Given the description of an element on the screen output the (x, y) to click on. 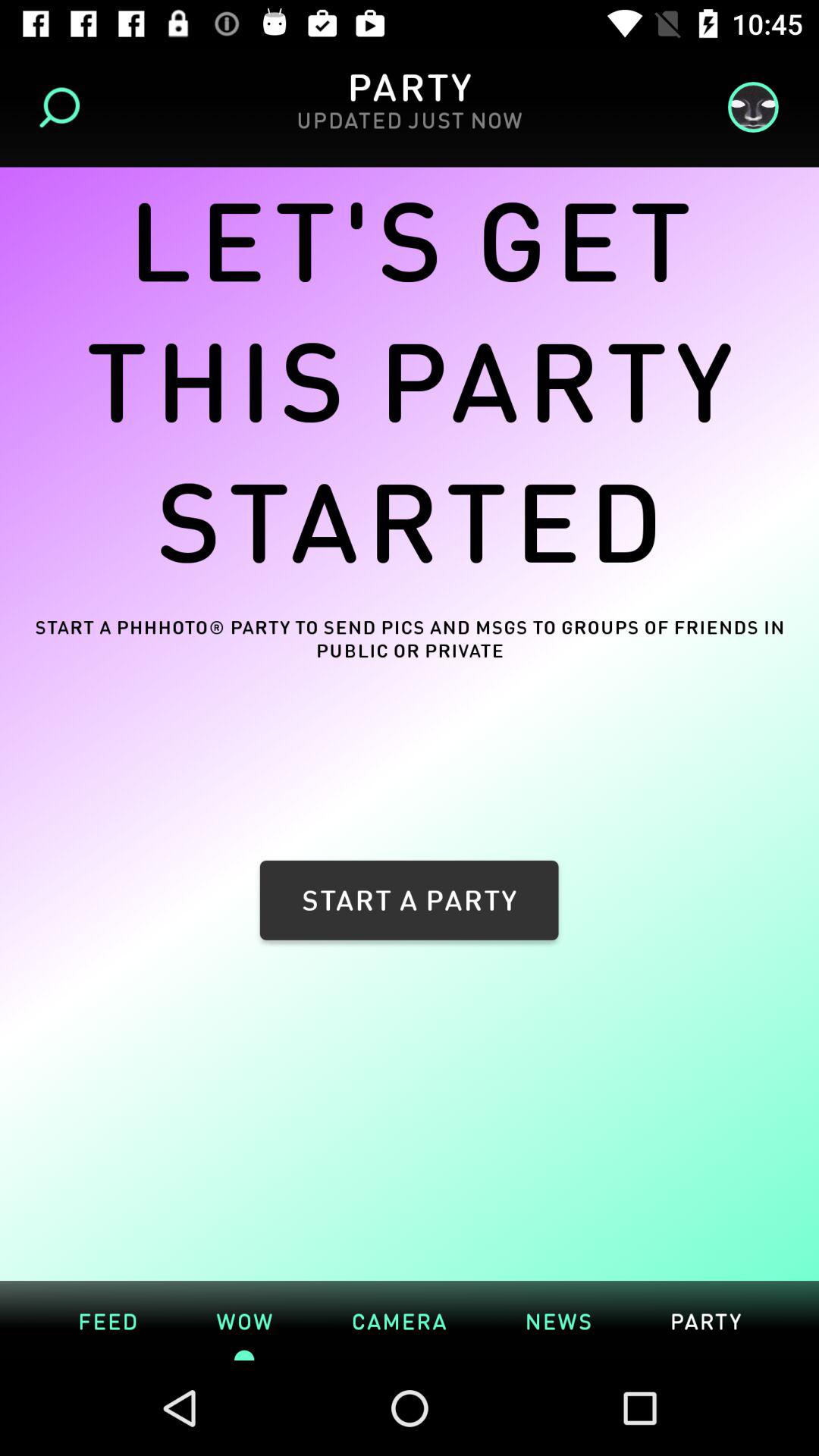
turn off the camera icon (398, 1320)
